Given the description of an element on the screen output the (x, y) to click on. 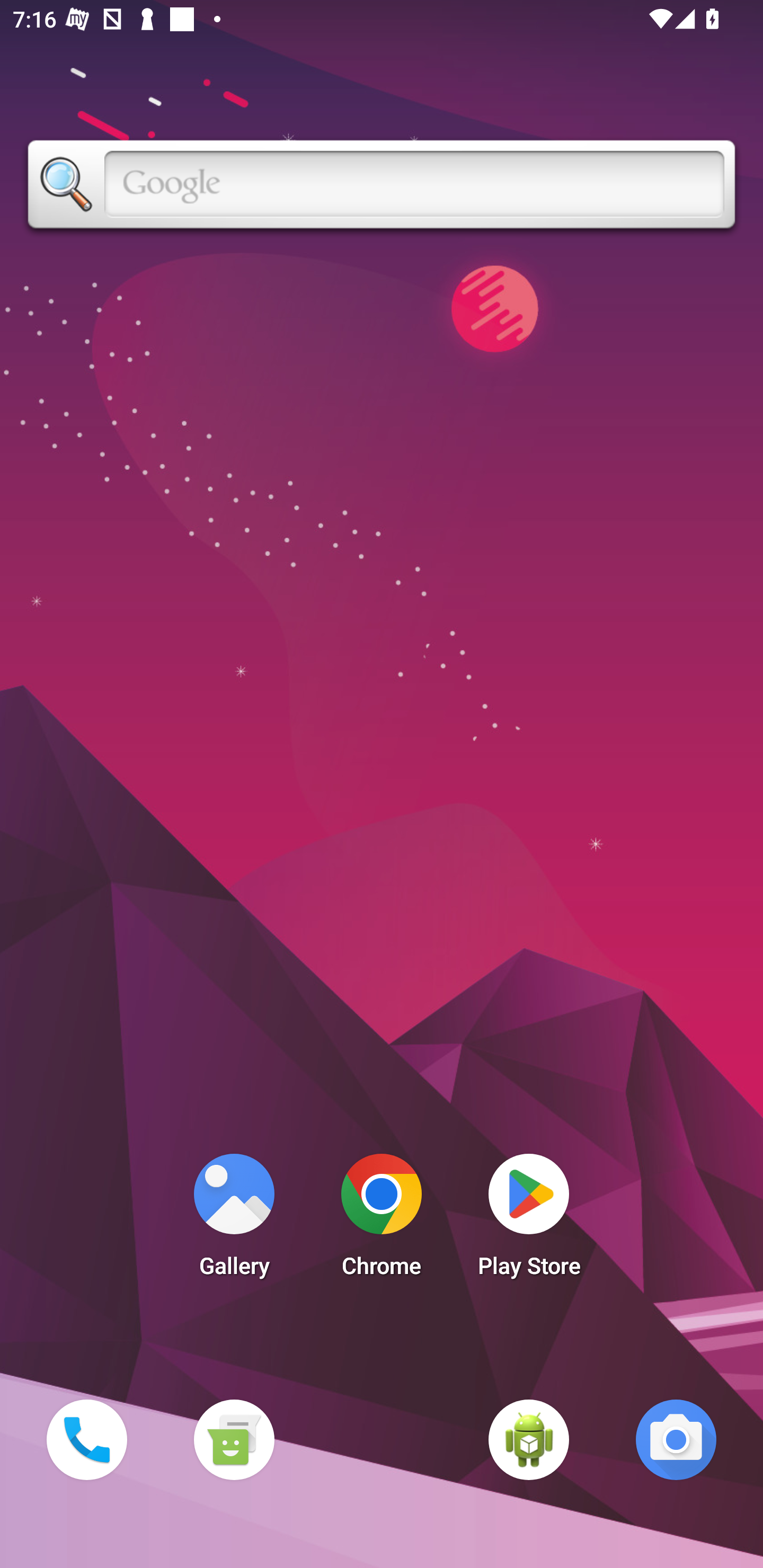
Gallery (233, 1220)
Chrome (381, 1220)
Play Store (528, 1220)
Phone (86, 1439)
Messaging (233, 1439)
WebView Browser Tester (528, 1439)
Camera (676, 1439)
